Given the description of an element on the screen output the (x, y) to click on. 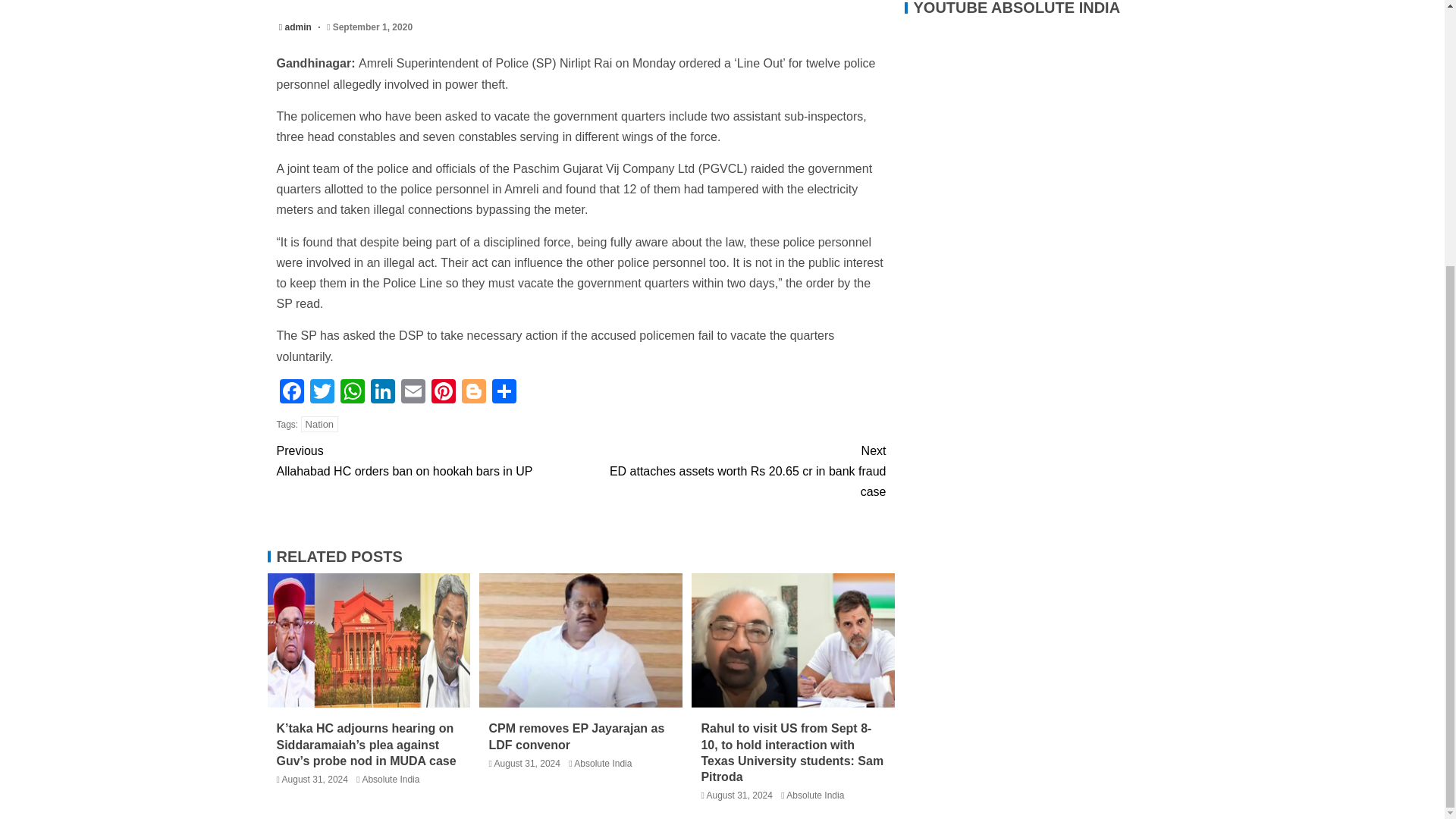
LinkedIn (381, 393)
Facebook (290, 393)
admin (299, 27)
Pinterest (443, 393)
Twitter (320, 393)
Email (412, 393)
Blogger (472, 393)
Email (412, 393)
Facebook (290, 393)
WhatsApp (351, 393)
